Given the description of an element on the screen output the (x, y) to click on. 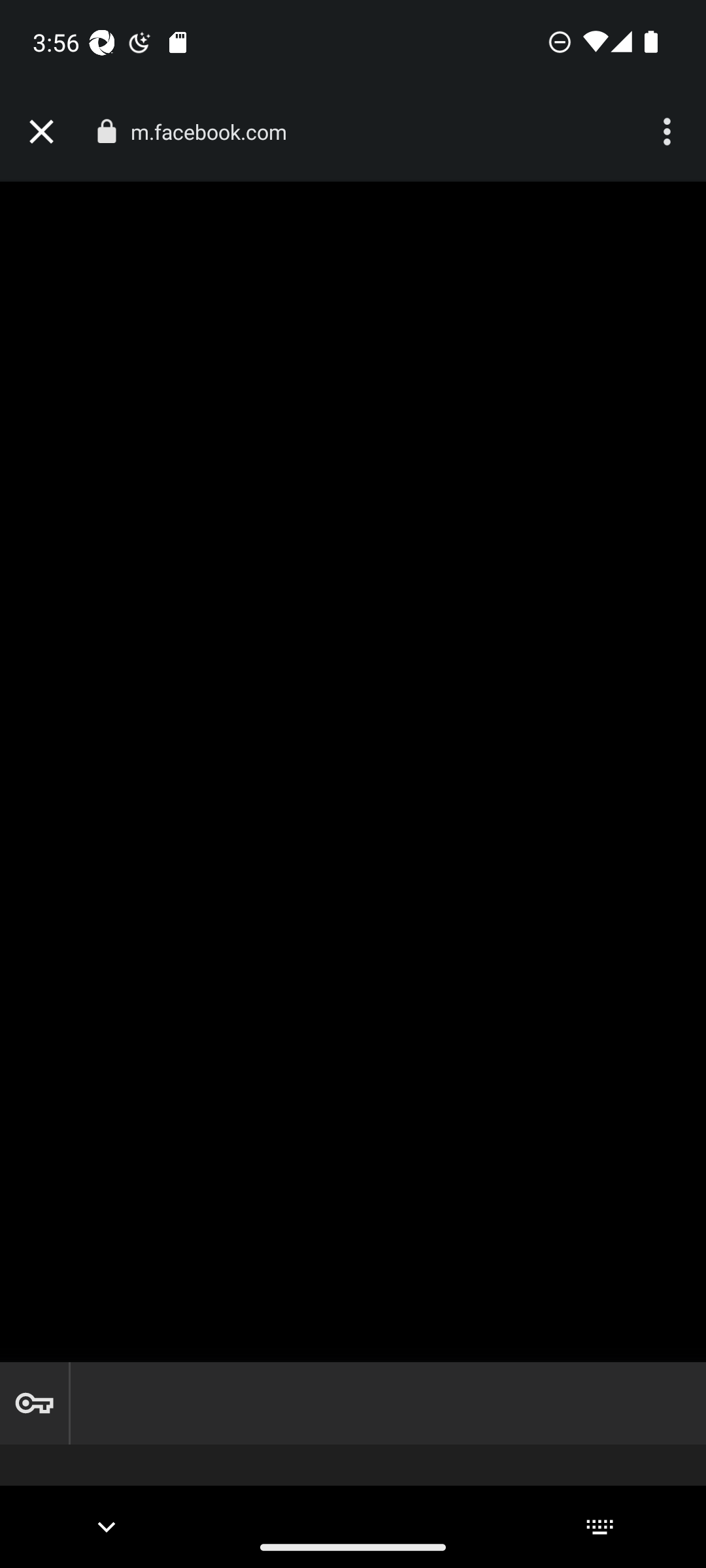
Close tab (41, 131)
More options (669, 131)
Connection is secure (106, 131)
m.facebook.com (215, 131)
Show passwords (34, 1403)
